Given the description of an element on the screen output the (x, y) to click on. 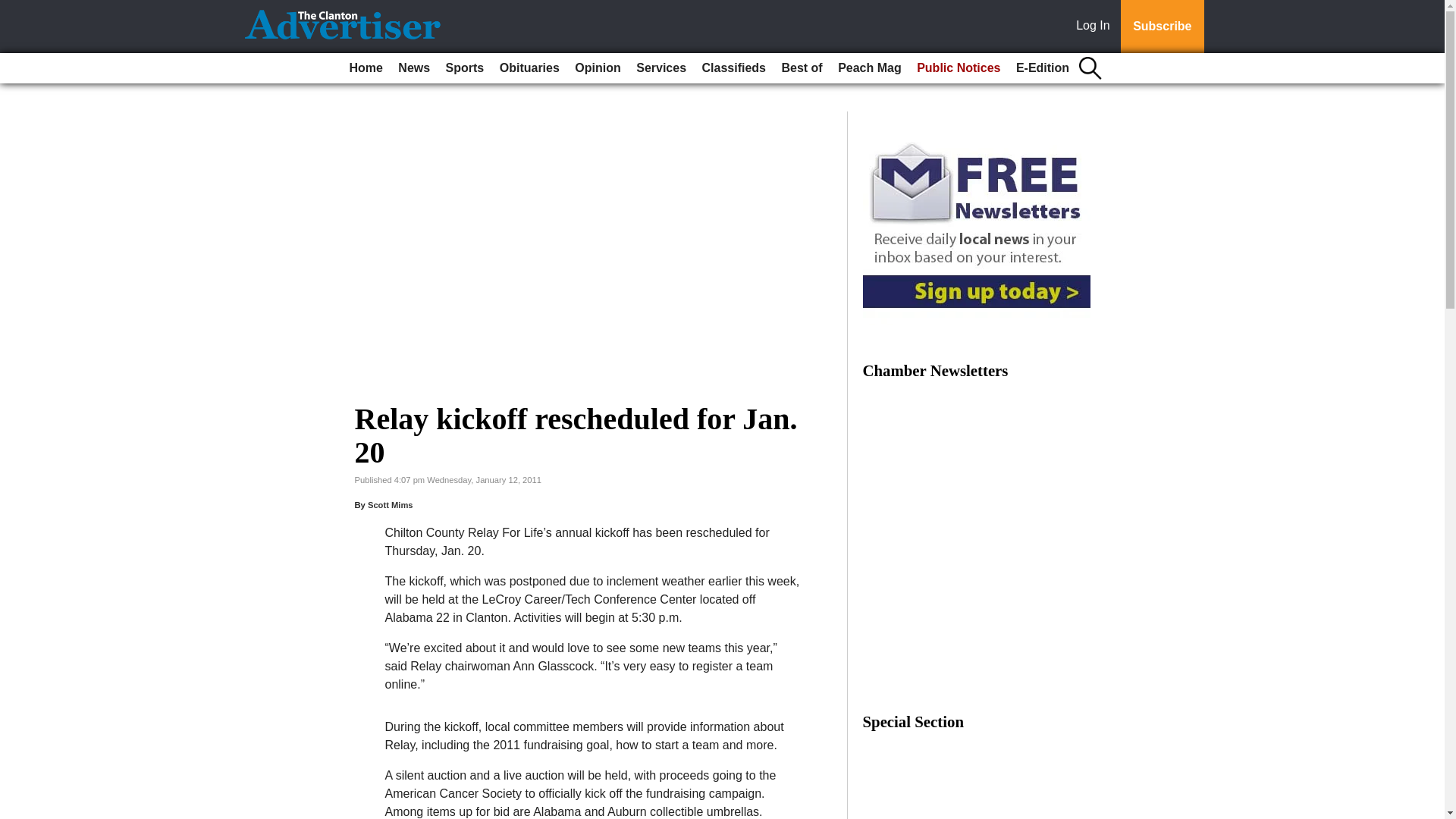
Public Notices (958, 68)
Scott Mims (390, 504)
Go (13, 9)
Sports (464, 68)
E-Edition (1042, 68)
Best of (801, 68)
Services (661, 68)
News (413, 68)
Subscribe (1162, 26)
Obituaries (529, 68)
Classifieds (733, 68)
Home (365, 68)
Peach Mag (869, 68)
Opinion (597, 68)
Log In (1095, 26)
